Given the description of an element on the screen output the (x, y) to click on. 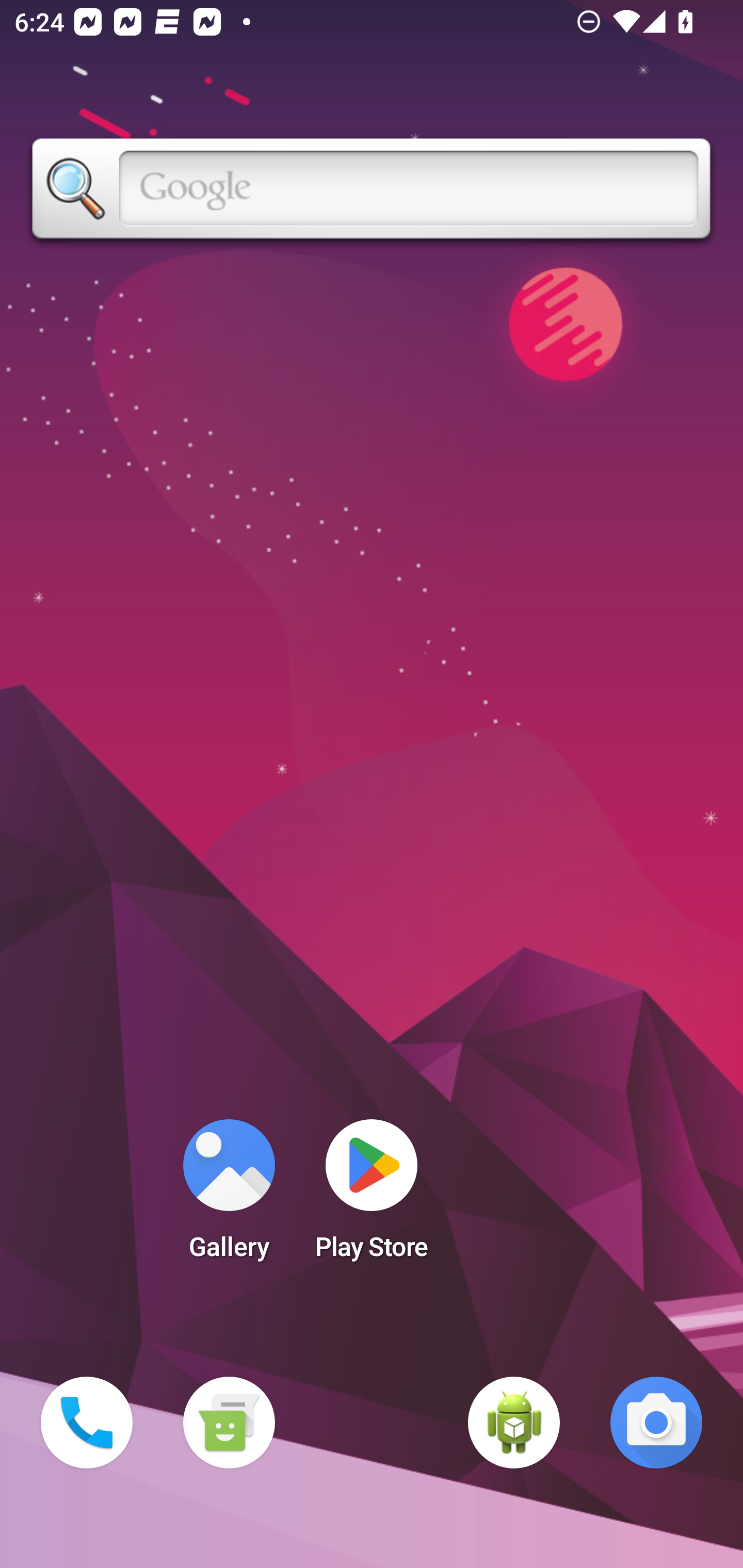
Gallery (228, 1195)
Play Store (371, 1195)
Phone (86, 1422)
Messaging (228, 1422)
WebView Browser Tester (513, 1422)
Camera (656, 1422)
